Given the description of an element on the screen output the (x, y) to click on. 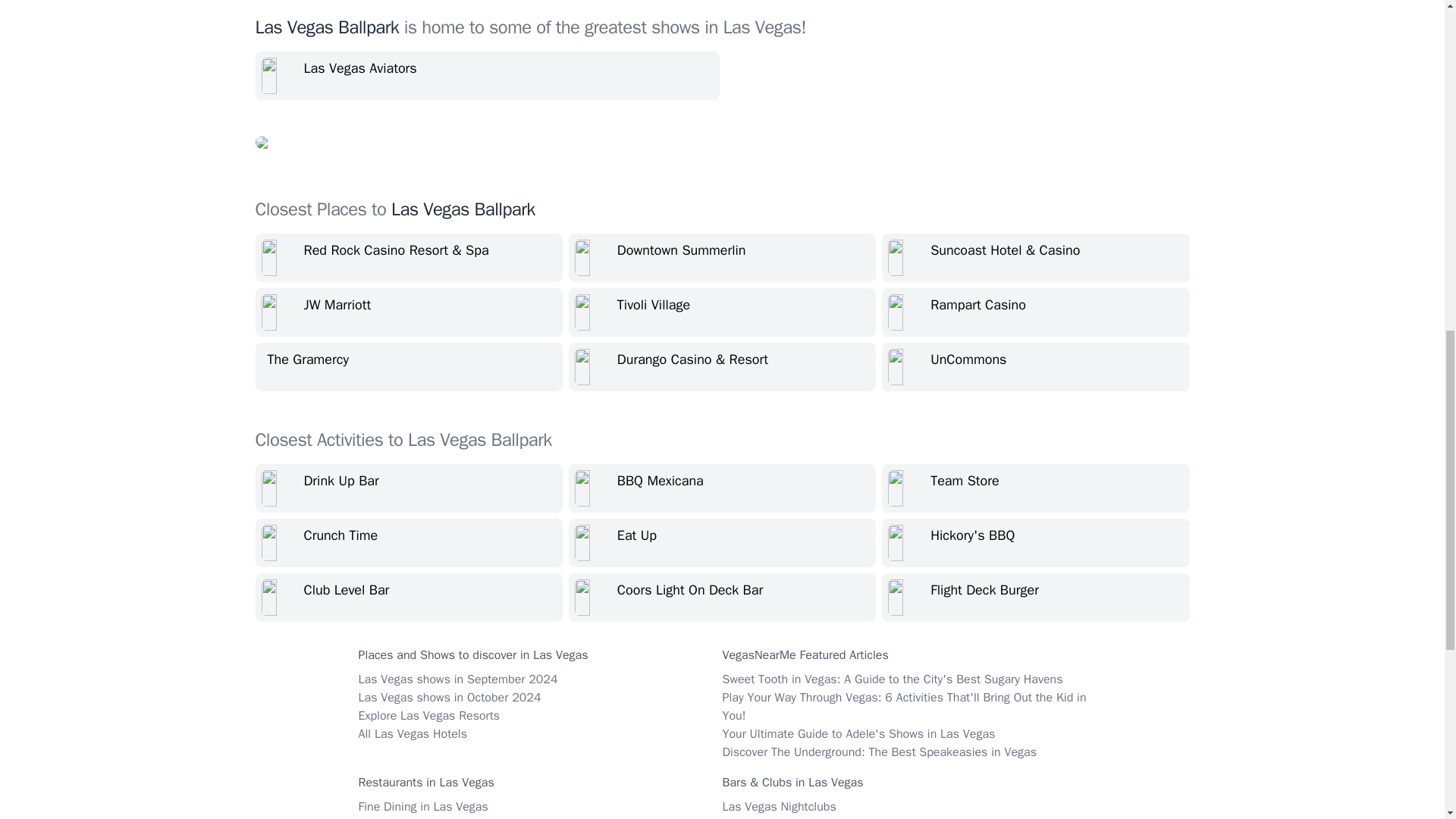
Team Store (1035, 488)
Drink Up Bar (408, 488)
UnCommons (1035, 367)
Tivoli Village (722, 312)
BBQ Mexicana (722, 488)
Flight Deck Burger (1035, 597)
Eat Up (722, 542)
JW Marriott (408, 312)
Las Vegas Aviators (486, 75)
Crunch Time (408, 542)
